Given the description of an element on the screen output the (x, y) to click on. 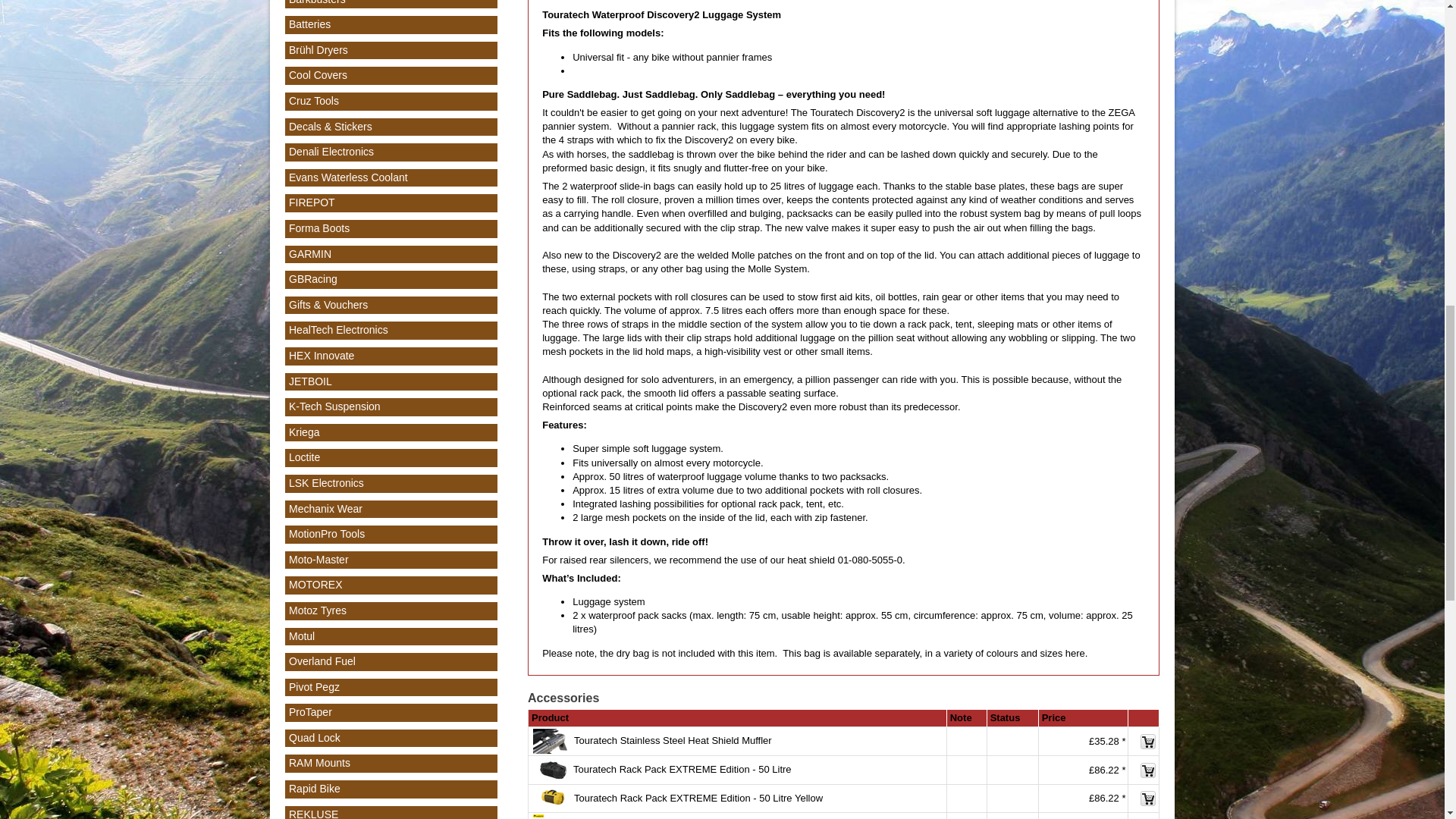
Barkbusters (317, 2)
Add to basket (1148, 770)
GARMIN (309, 254)
In stock (1011, 799)
Add to basket (1148, 741)
GBRacing (312, 278)
Batteries (309, 24)
Forma Boots (318, 227)
In stock (1011, 770)
Out Of Stock (1011, 741)
FIREPOT (311, 202)
Denali Electronics (331, 151)
Evans Waterless Coolant (347, 177)
Cool Covers (317, 74)
Add to basket (1148, 798)
